Given the description of an element on the screen output the (x, y) to click on. 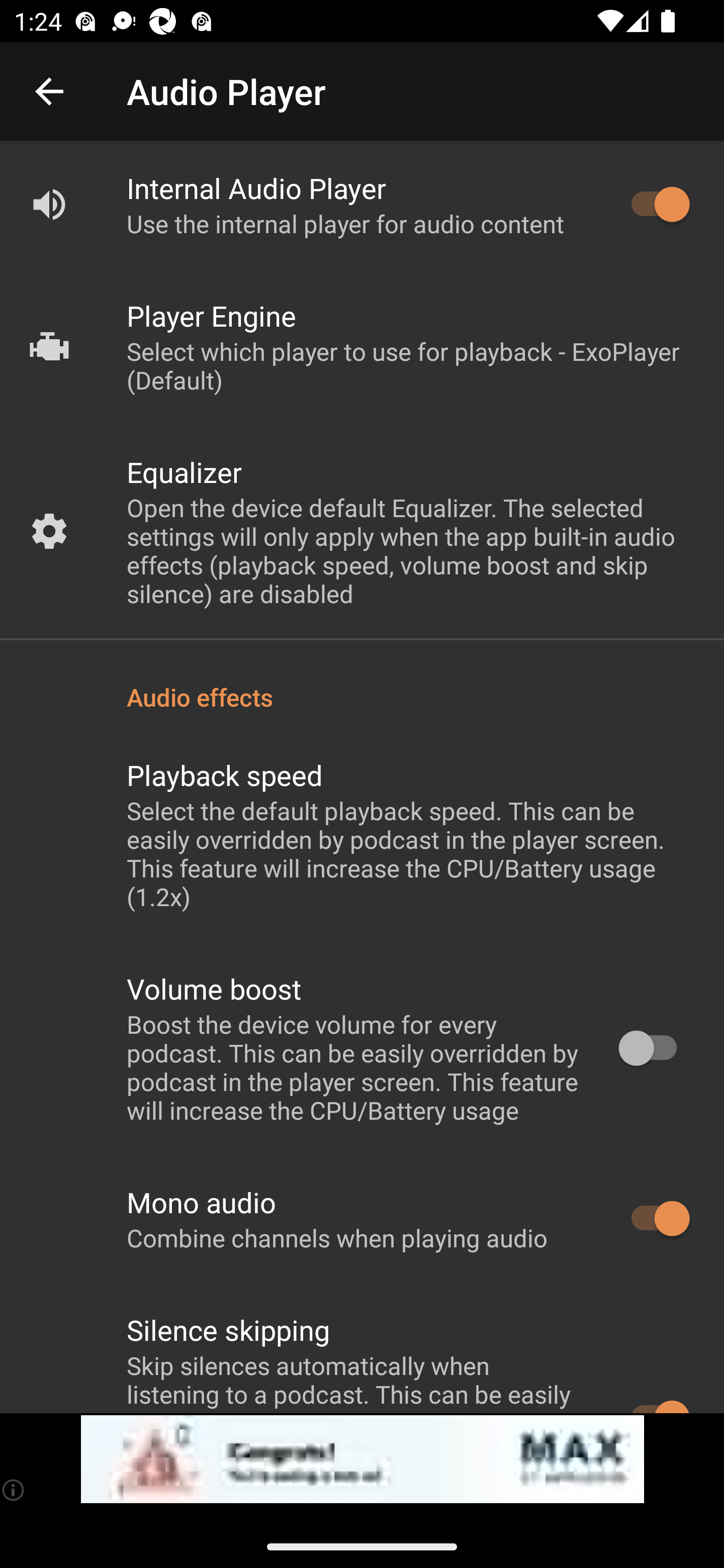
Navigate up (49, 91)
Mono audio Combine channels when playing audio (362, 1218)
app-monetization (362, 1459)
(i) (14, 1489)
